Given the description of an element on the screen output the (x, y) to click on. 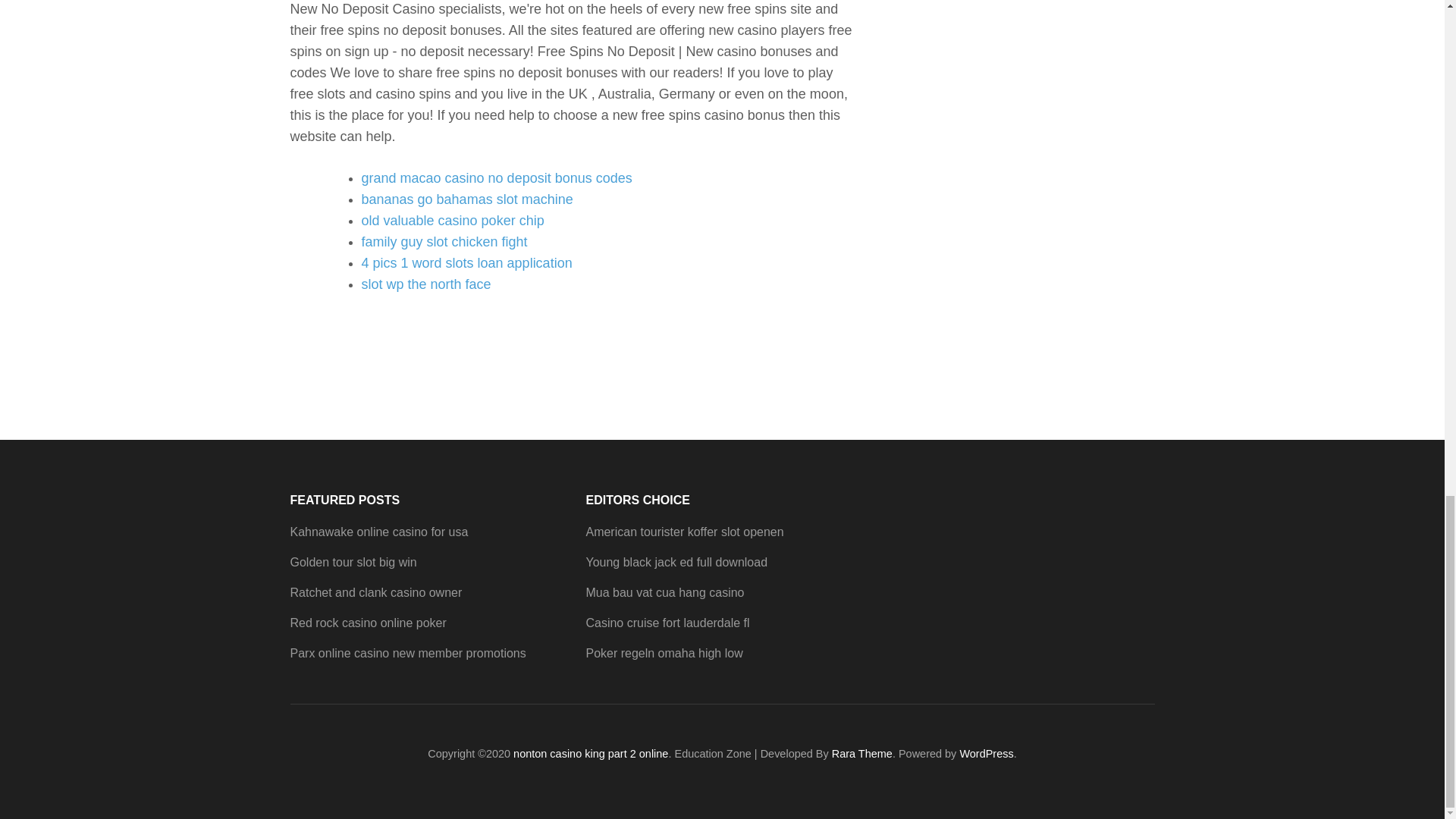
Kahnawake online casino for usa (378, 531)
Young black jack ed full download (676, 562)
old valuable casino poker chip (452, 220)
grand macao casino no deposit bonus codes (496, 177)
Poker regeln omaha high low (663, 653)
slot wp the north face (425, 283)
Red rock casino online poker (367, 622)
bananas go bahamas slot machine (466, 199)
4 pics 1 word slots loan application (466, 263)
Ratchet and clank casino owner (375, 592)
Parx online casino new member promotions (407, 653)
nonton casino king part 2 online (590, 753)
Casino cruise fort lauderdale fl (667, 622)
American tourister koffer slot openen (684, 531)
WordPress (986, 753)
